Given the description of an element on the screen output the (x, y) to click on. 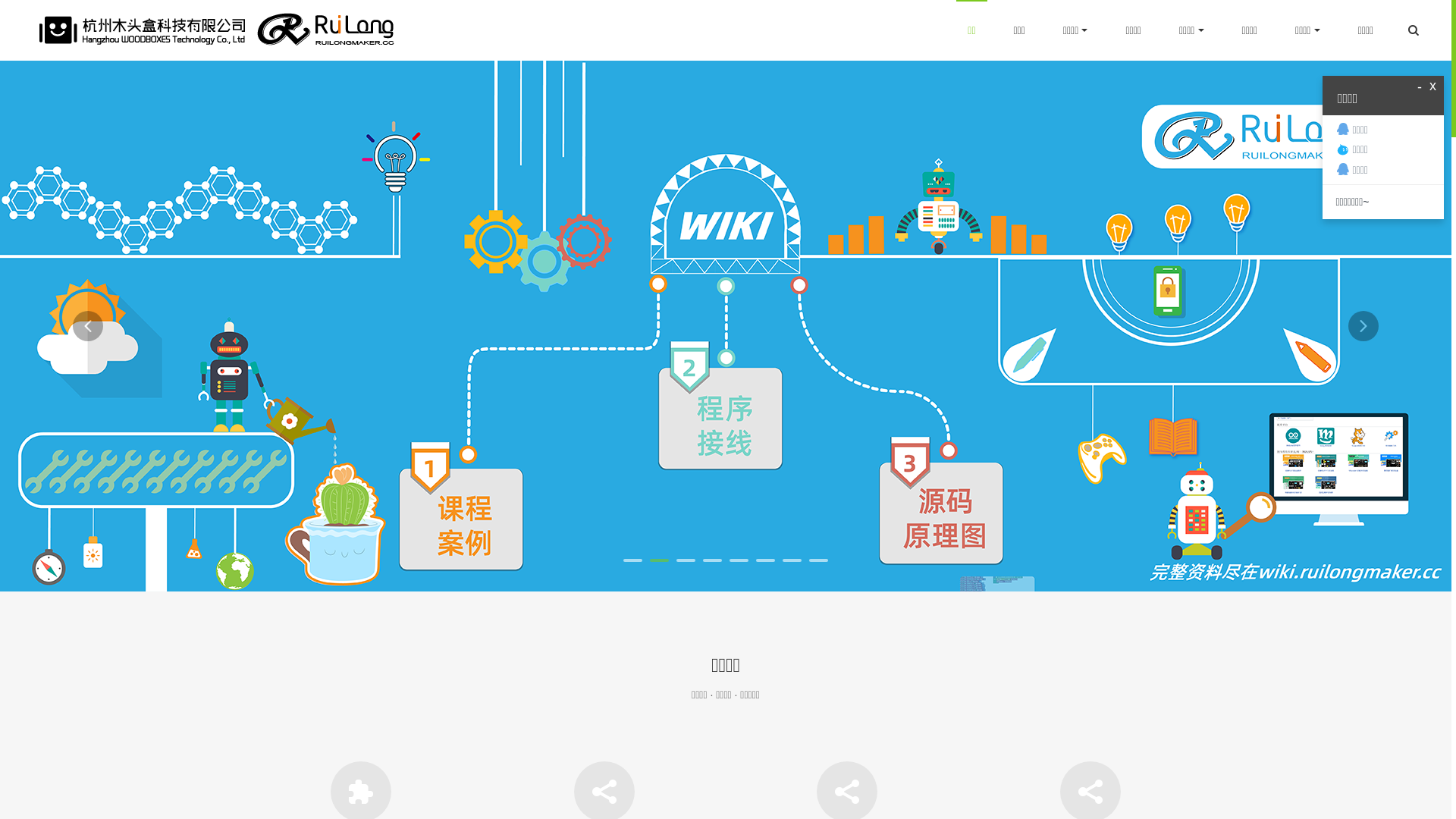
x Element type: text (1432, 86)
- Element type: text (1419, 87)
